Given the description of an element on the screen output the (x, y) to click on. 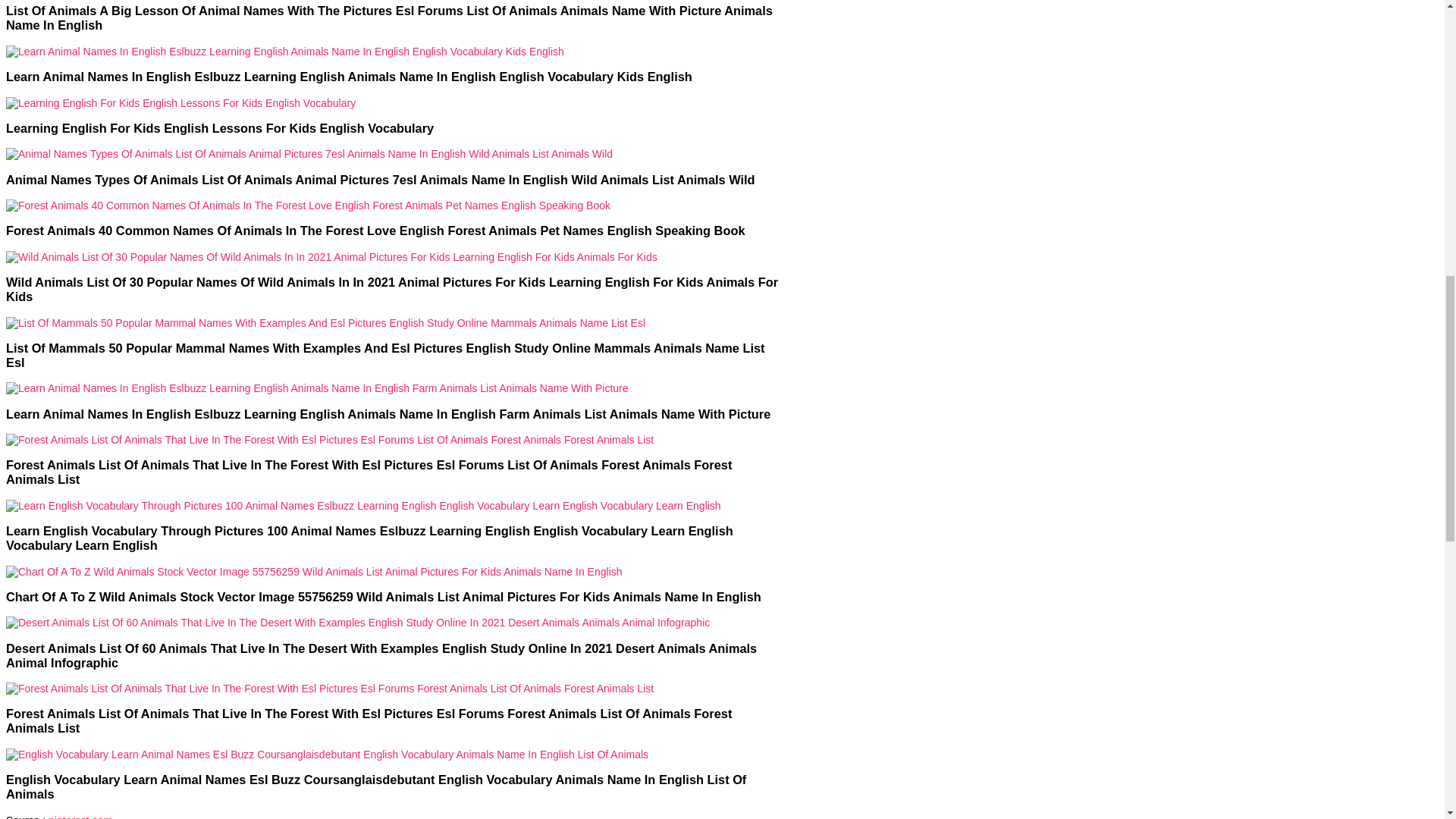
pinterest.com (80, 816)
